Given the description of an element on the screen output the (x, y) to click on. 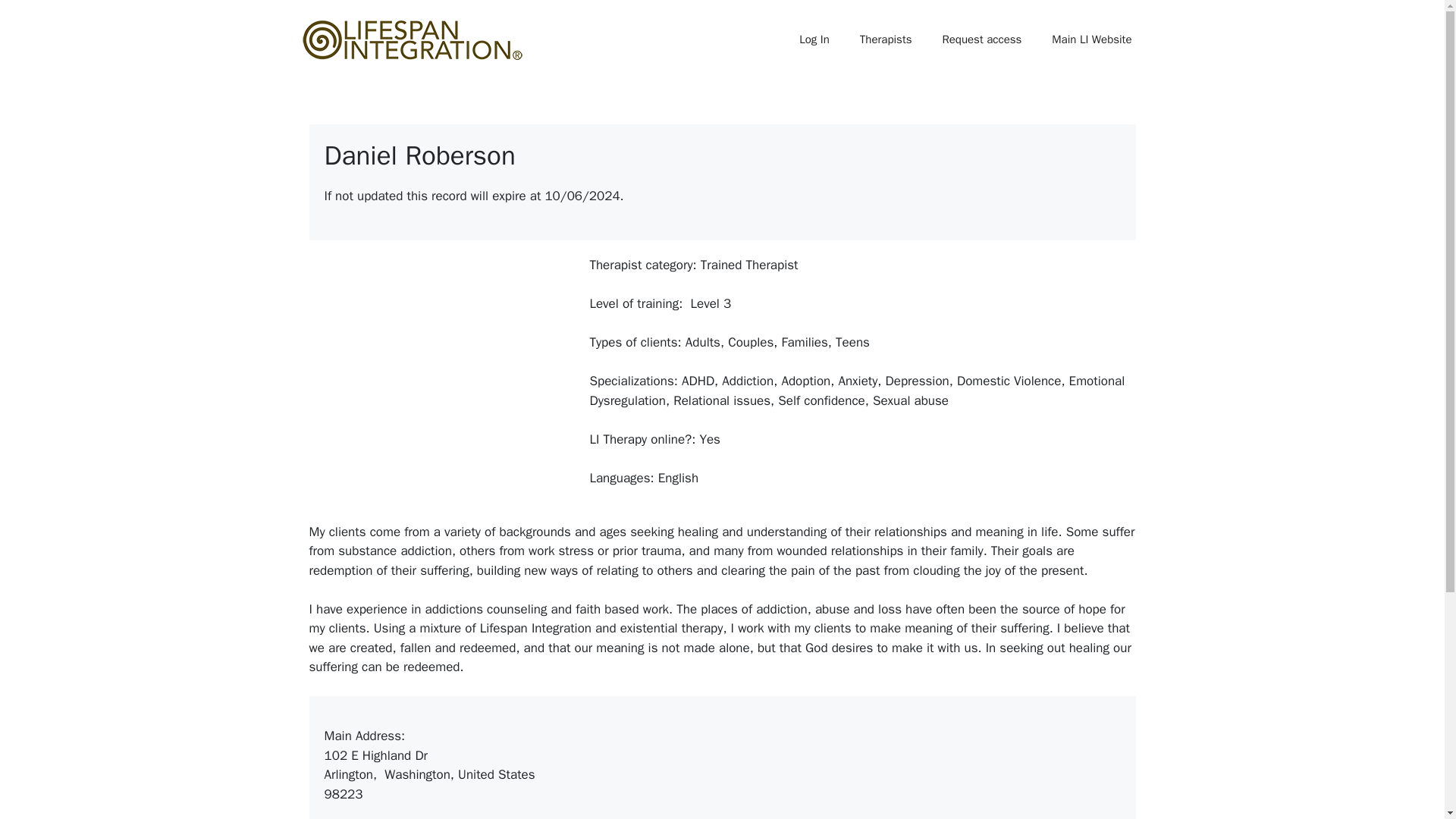
Request access (981, 39)
Log In (814, 39)
Therapists (885, 39)
Main LI Website (1091, 39)
